Given the description of an element on the screen output the (x, y) to click on. 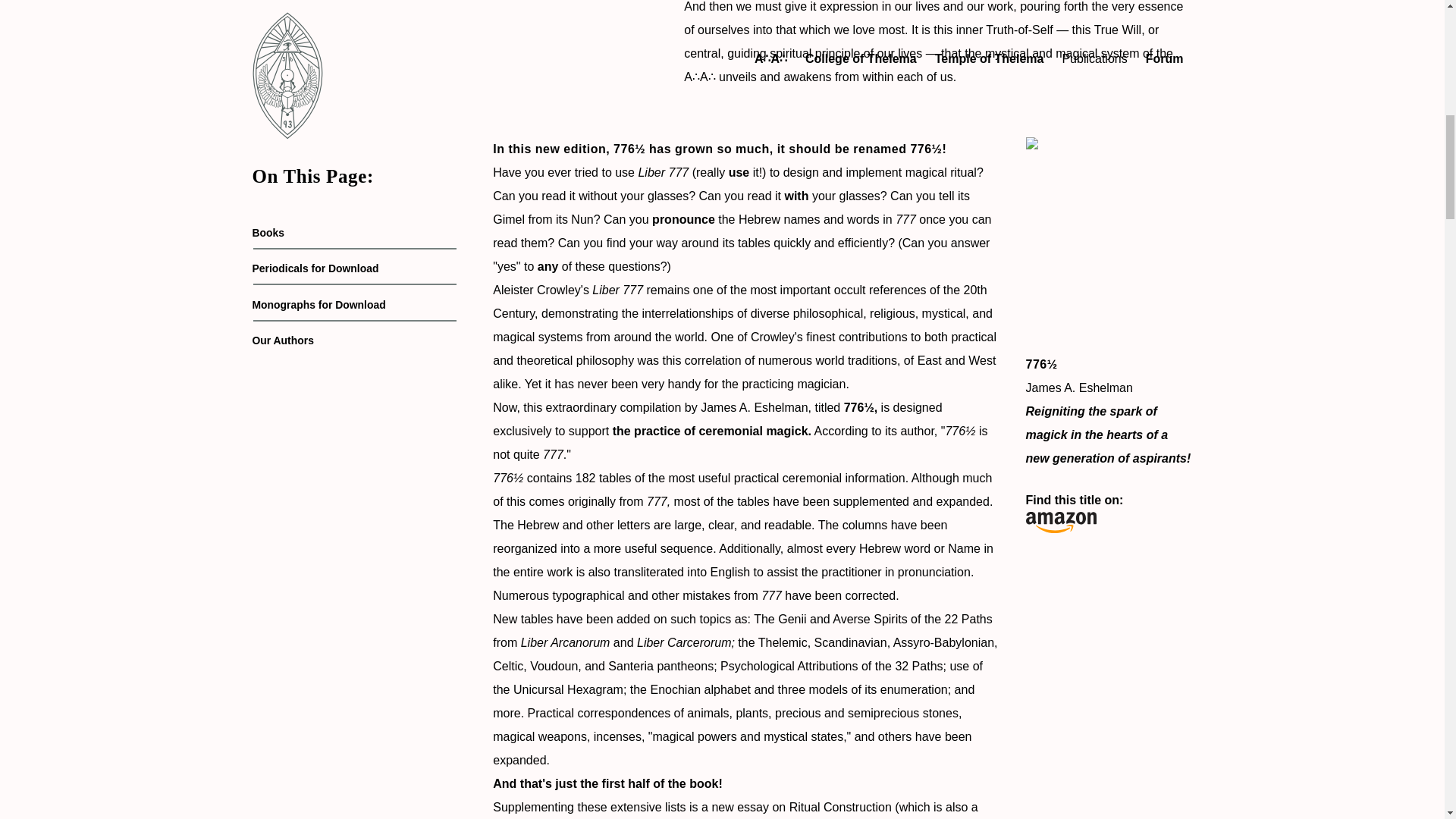
Find this title on: (1108, 510)
